Given the description of an element on the screen output the (x, y) to click on. 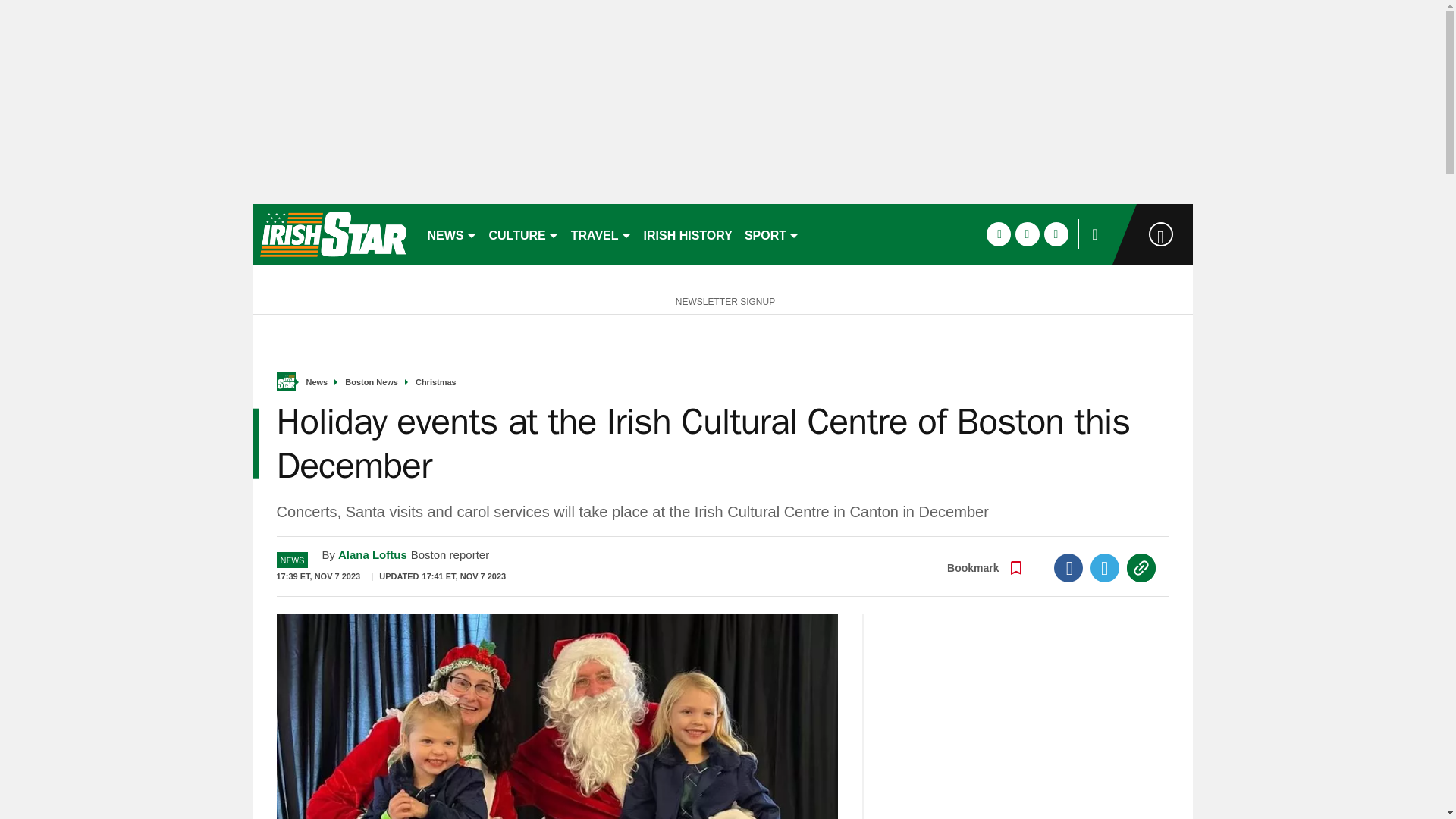
Christmas (435, 382)
instagram (1055, 233)
irishstar (332, 233)
Boston News (371, 382)
SPORT (771, 233)
Twitter (1104, 567)
TRAVEL (600, 233)
NEWSLETTER SIGNUP (721, 300)
Facebook (1068, 567)
News (317, 382)
